Given the description of an element on the screen output the (x, y) to click on. 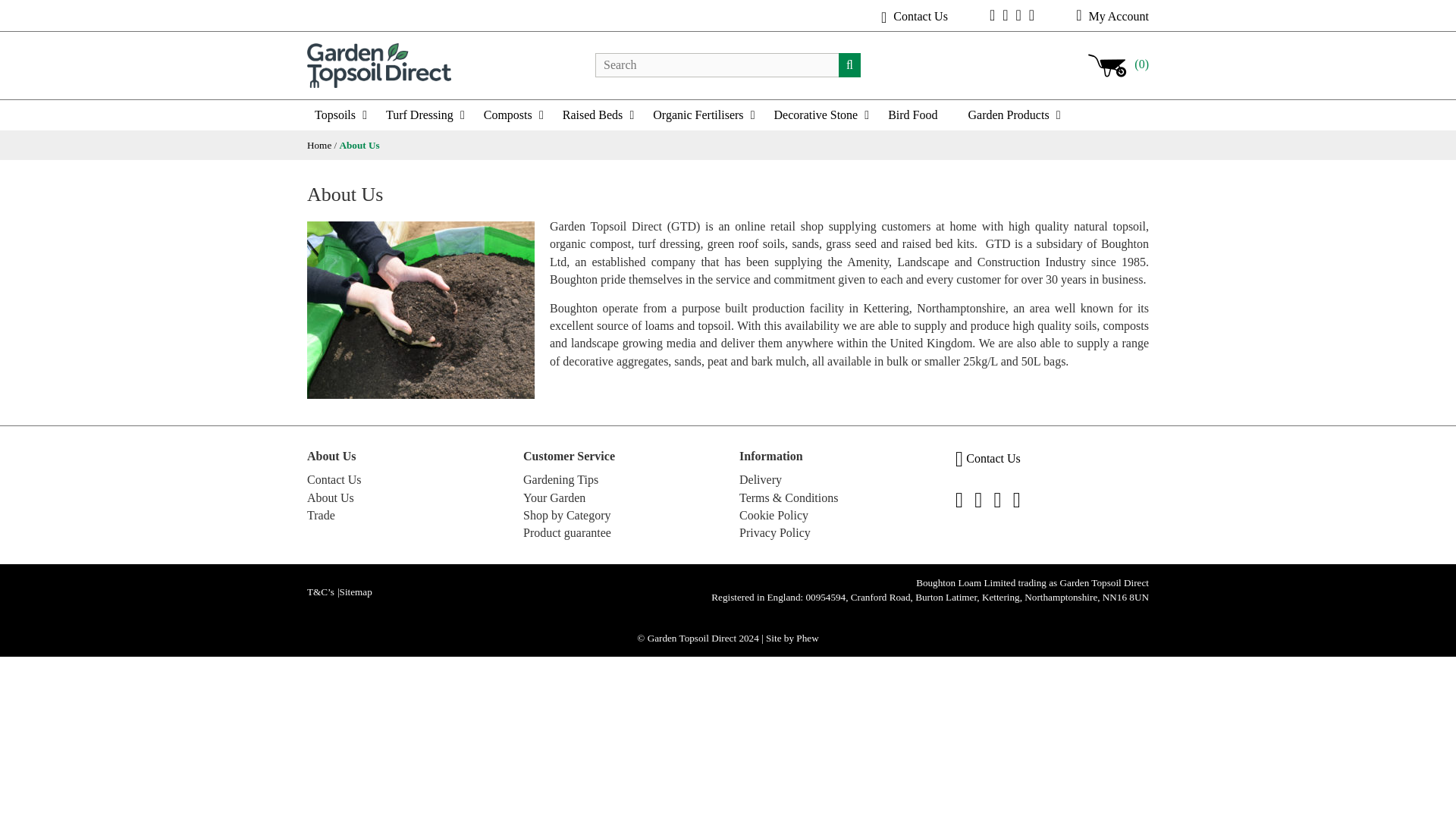
Topsoils (342, 114)
Garden Topsoil Direct (379, 63)
Search (849, 64)
Raised Beds (600, 114)
Turf Dressing (427, 114)
Composts (515, 114)
My Account (1111, 16)
Contact Us (913, 16)
